Given the description of an element on the screen output the (x, y) to click on. 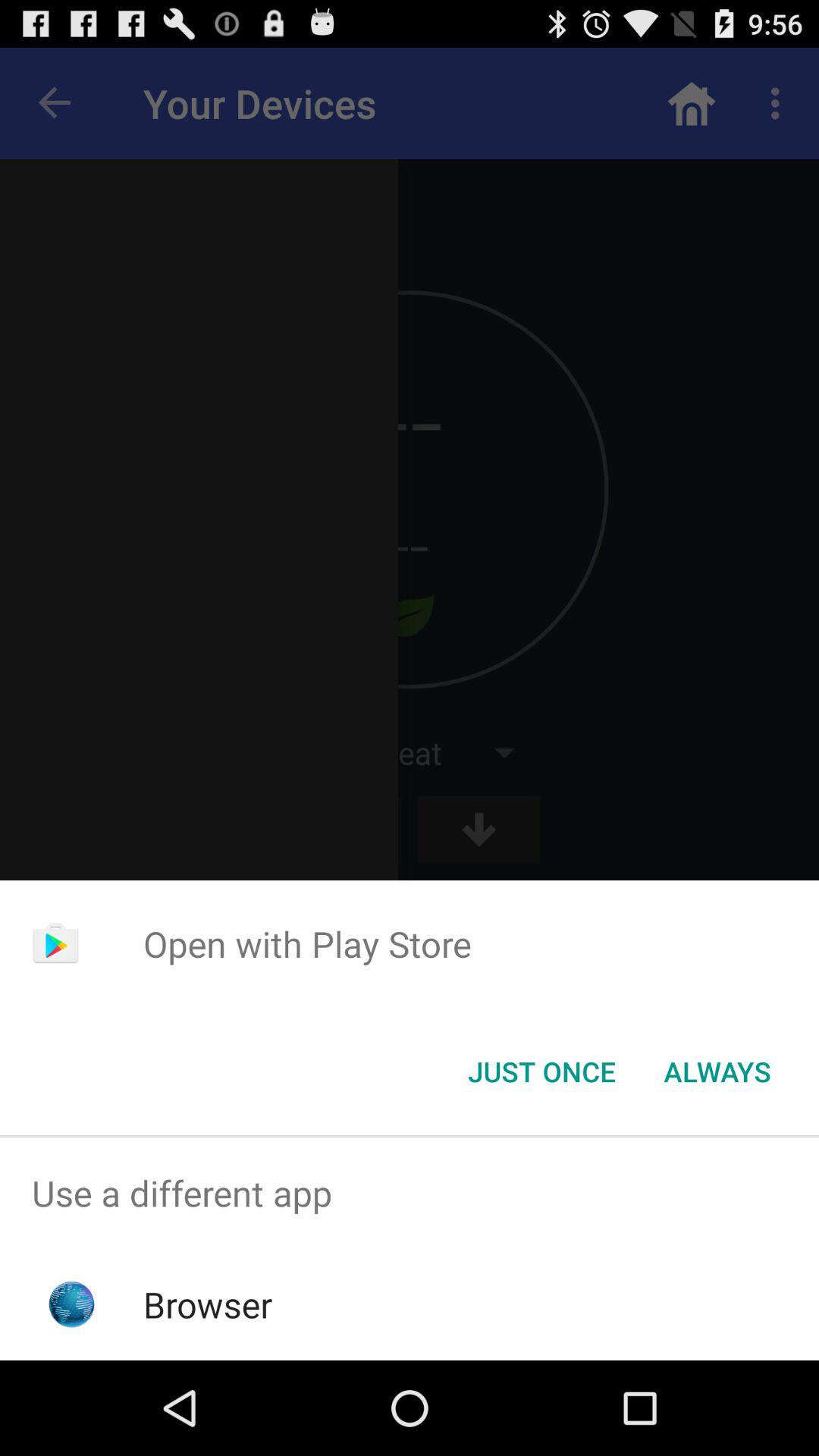
flip to always item (717, 1071)
